Given the description of an element on the screen output the (x, y) to click on. 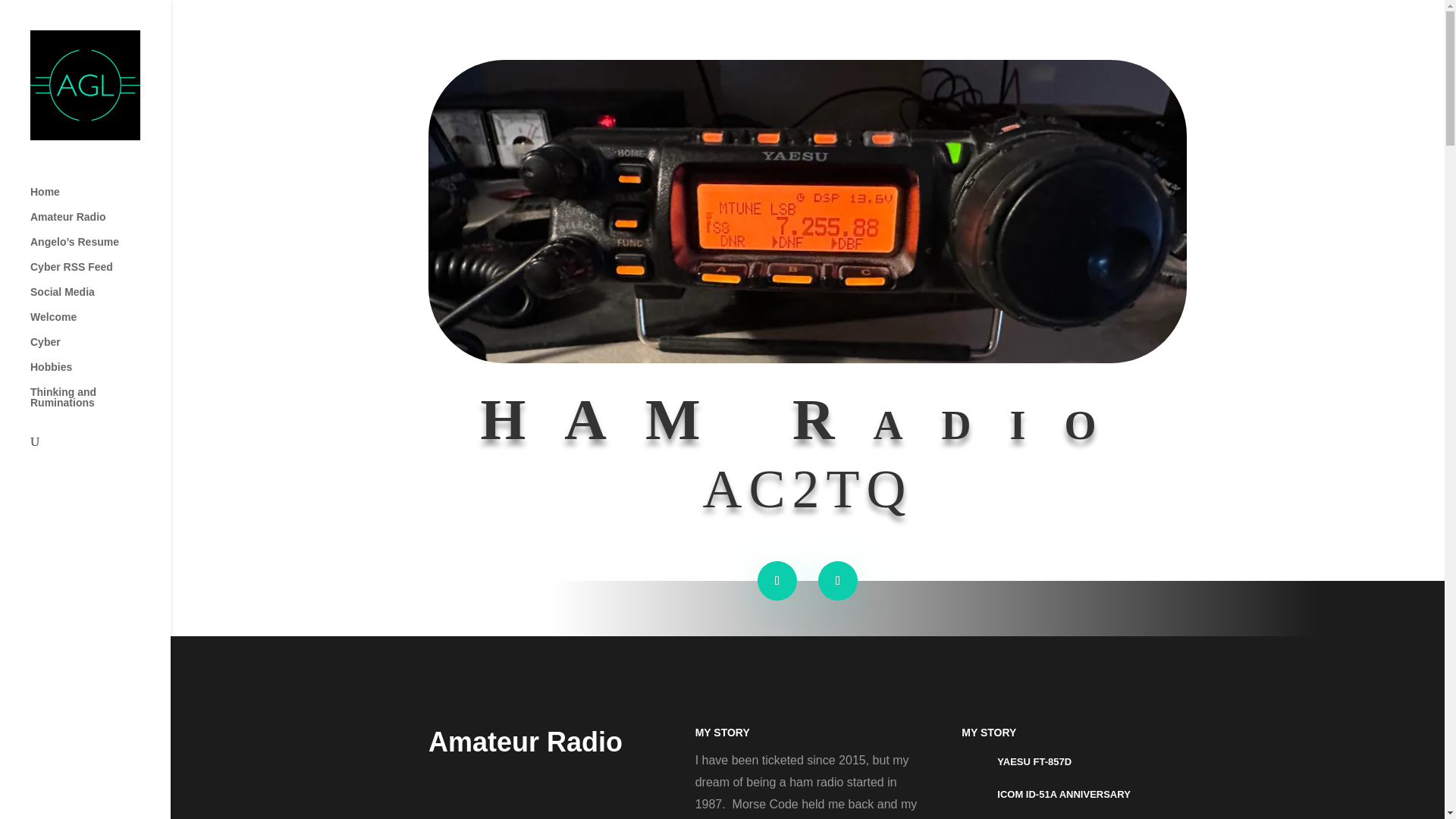
Hobbies (100, 373)
Welcome (100, 324)
Home (100, 198)
Cyber RSS Feed (100, 273)
Cyber (100, 348)
Amateur Radio (100, 223)
Social Media (100, 299)
Thinking and Ruminations (100, 404)
Follow on X (776, 580)
